Given the description of an element on the screen output the (x, y) to click on. 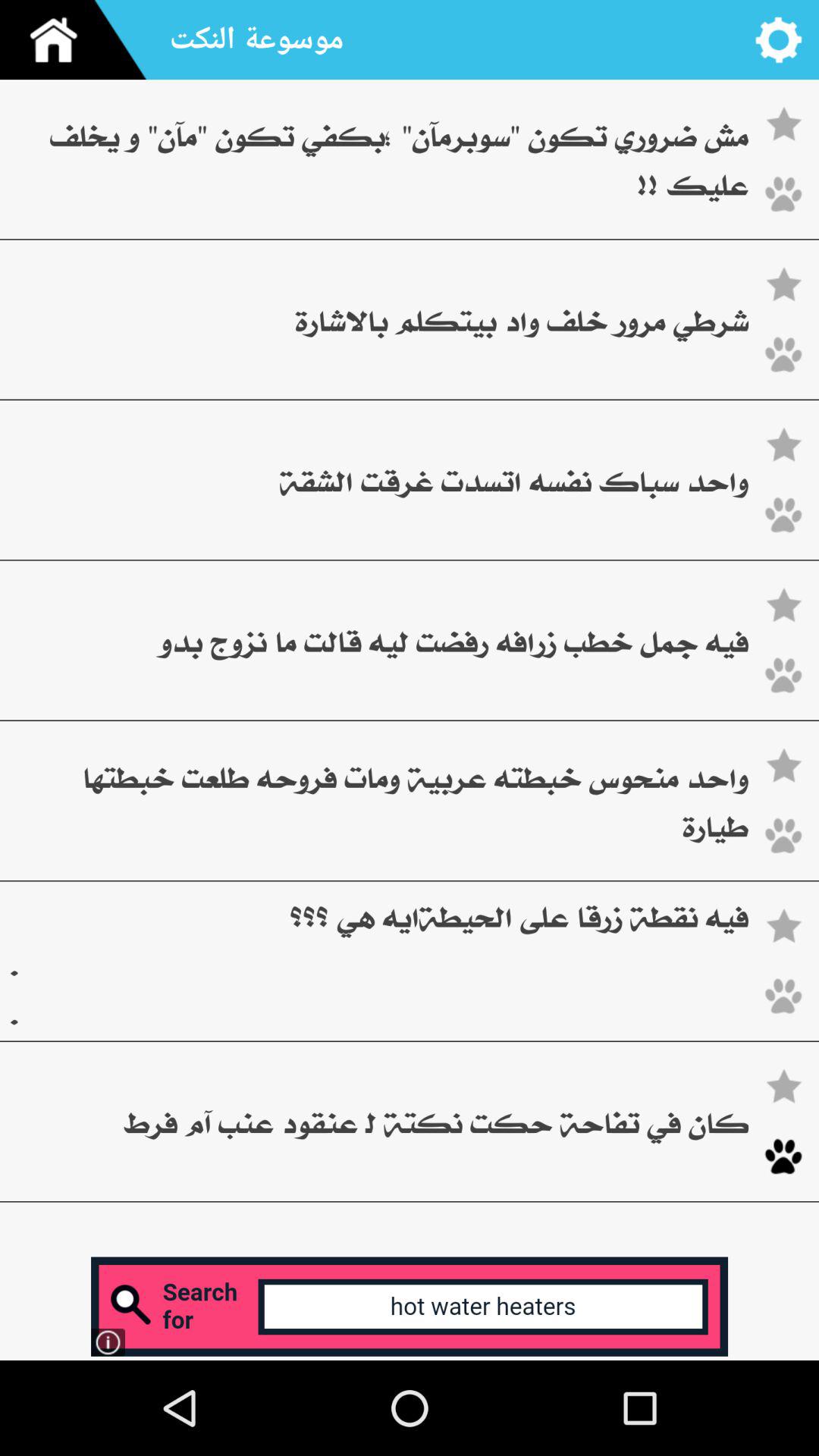
input search term (409, 1306)
